Given the description of an element on the screen output the (x, y) to click on. 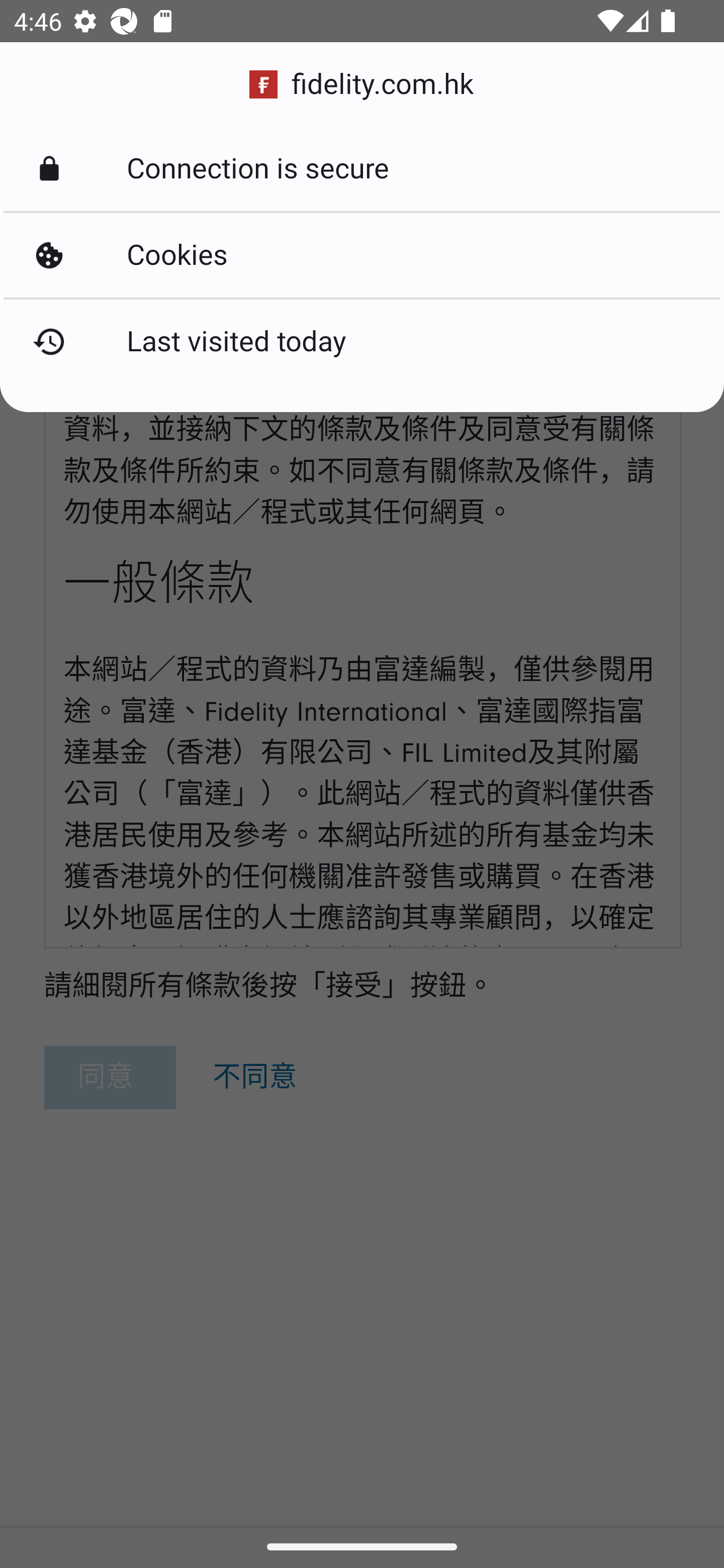
fidelity.com.hk (362, 84)
Connection is secure (362, 169)
Cookies (362, 255)
Last visited today (362, 341)
